Given the description of an element on the screen output the (x, y) to click on. 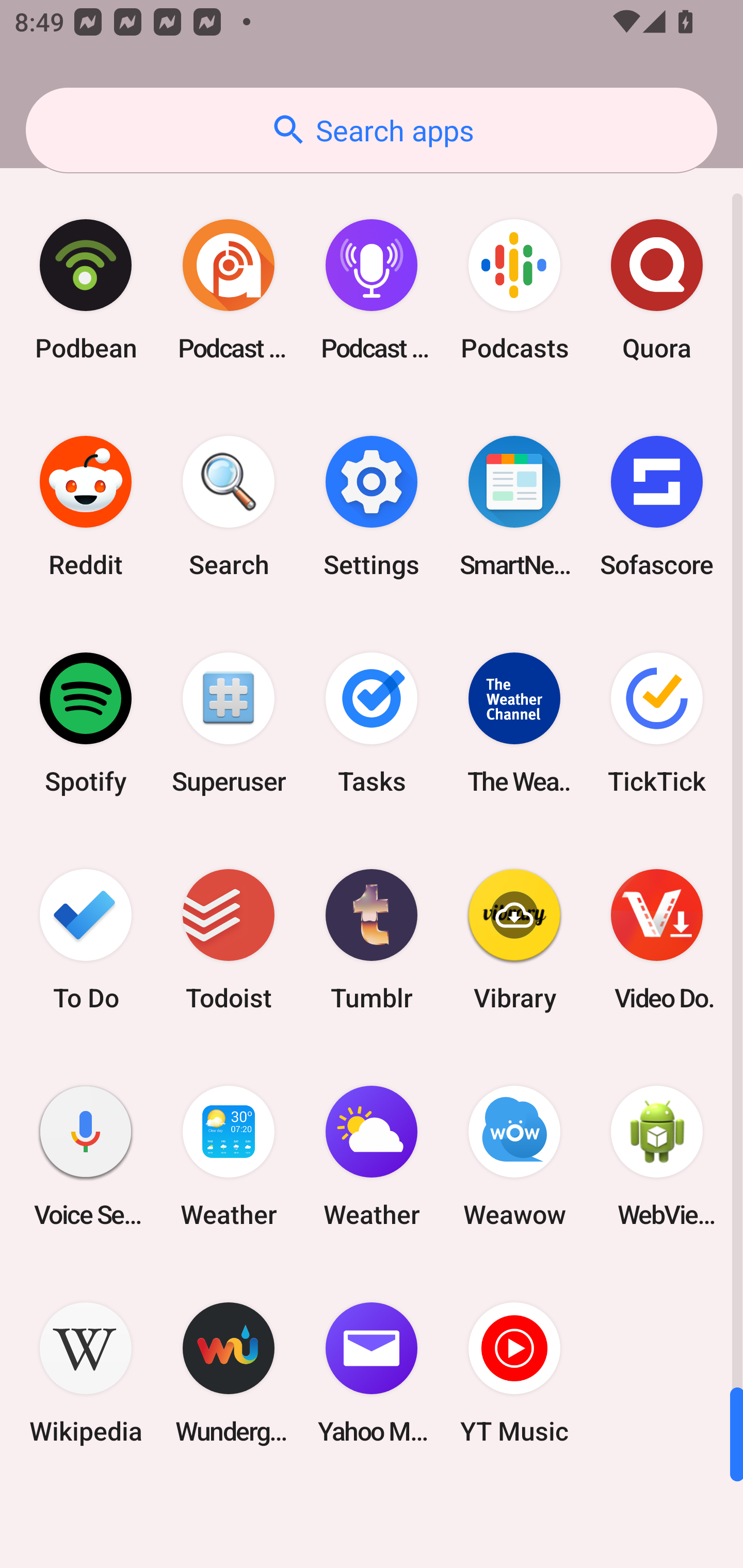
  Search apps (371, 130)
Podbean (85, 289)
Podcast Addict (228, 289)
Podcast Player (371, 289)
Podcasts (514, 289)
Quora (656, 289)
Reddit (85, 506)
Search (228, 506)
Settings (371, 506)
SmartNews (514, 506)
Sofascore (656, 506)
Spotify (85, 722)
Superuser (228, 722)
Tasks (371, 722)
The Weather Channel (514, 722)
TickTick (656, 722)
To Do (85, 939)
Todoist (228, 939)
Tumblr (371, 939)
Vibrary (514, 939)
Video Downloader & Ace Player (656, 939)
Voice Search (85, 1156)
Weather (228, 1156)
Weather (371, 1156)
Weawow (514, 1156)
WebView Browser Tester (656, 1156)
Wikipedia (85, 1373)
Wunderground (228, 1373)
Yahoo Mail (371, 1373)
YT Music (514, 1373)
